Given the description of an element on the screen output the (x, y) to click on. 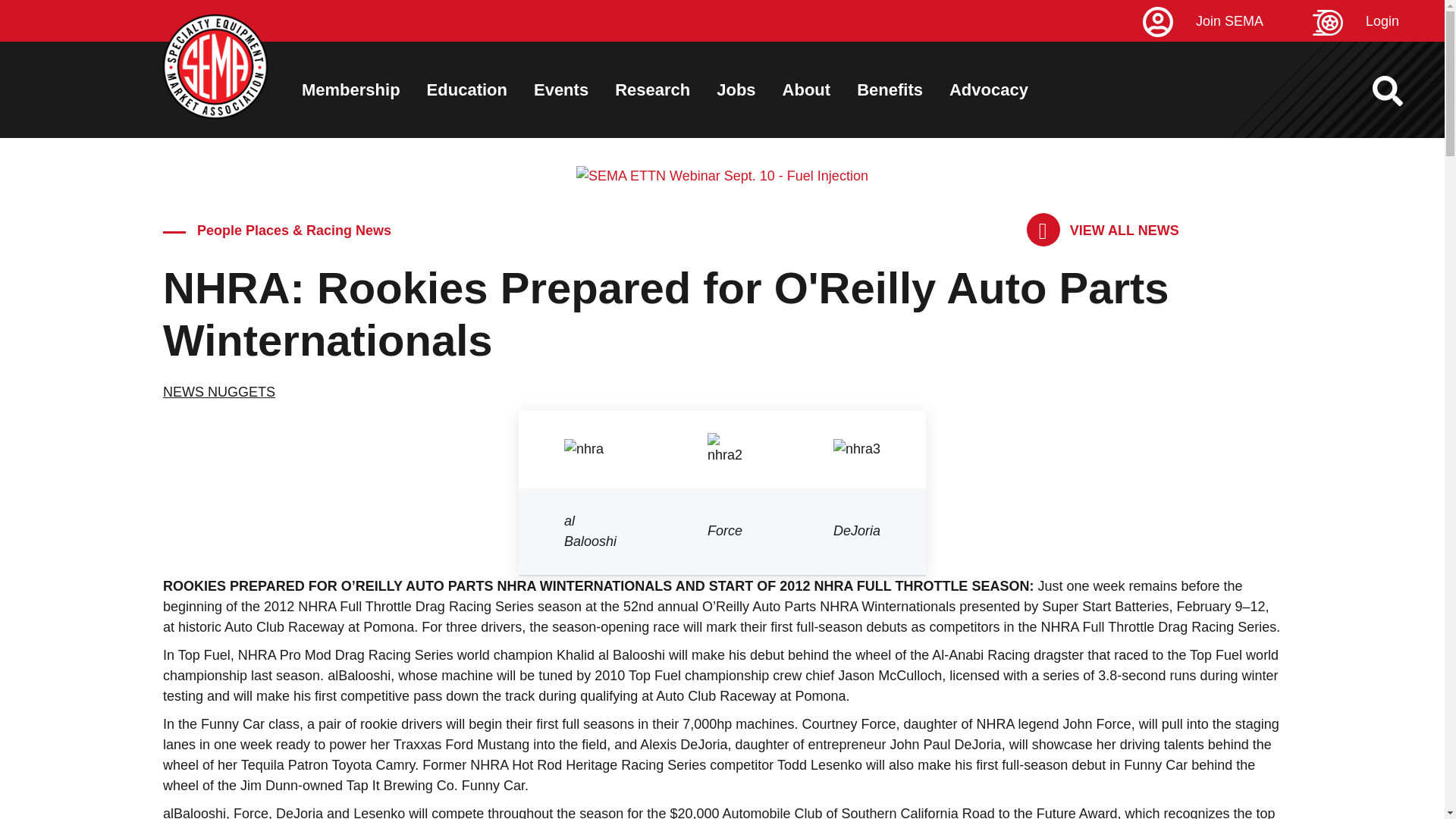
Research (652, 89)
Join SEMA (1225, 20)
eNews archive (1102, 230)
Membership (350, 89)
Search Sema.org (1401, 91)
Benefits (889, 89)
Login (1378, 20)
SEMA ETTN Webinar Sept. 10 - Fuel Injection (721, 176)
VIEW ALL NEWS (1102, 230)
Education (466, 89)
